Given the description of an element on the screen output the (x, y) to click on. 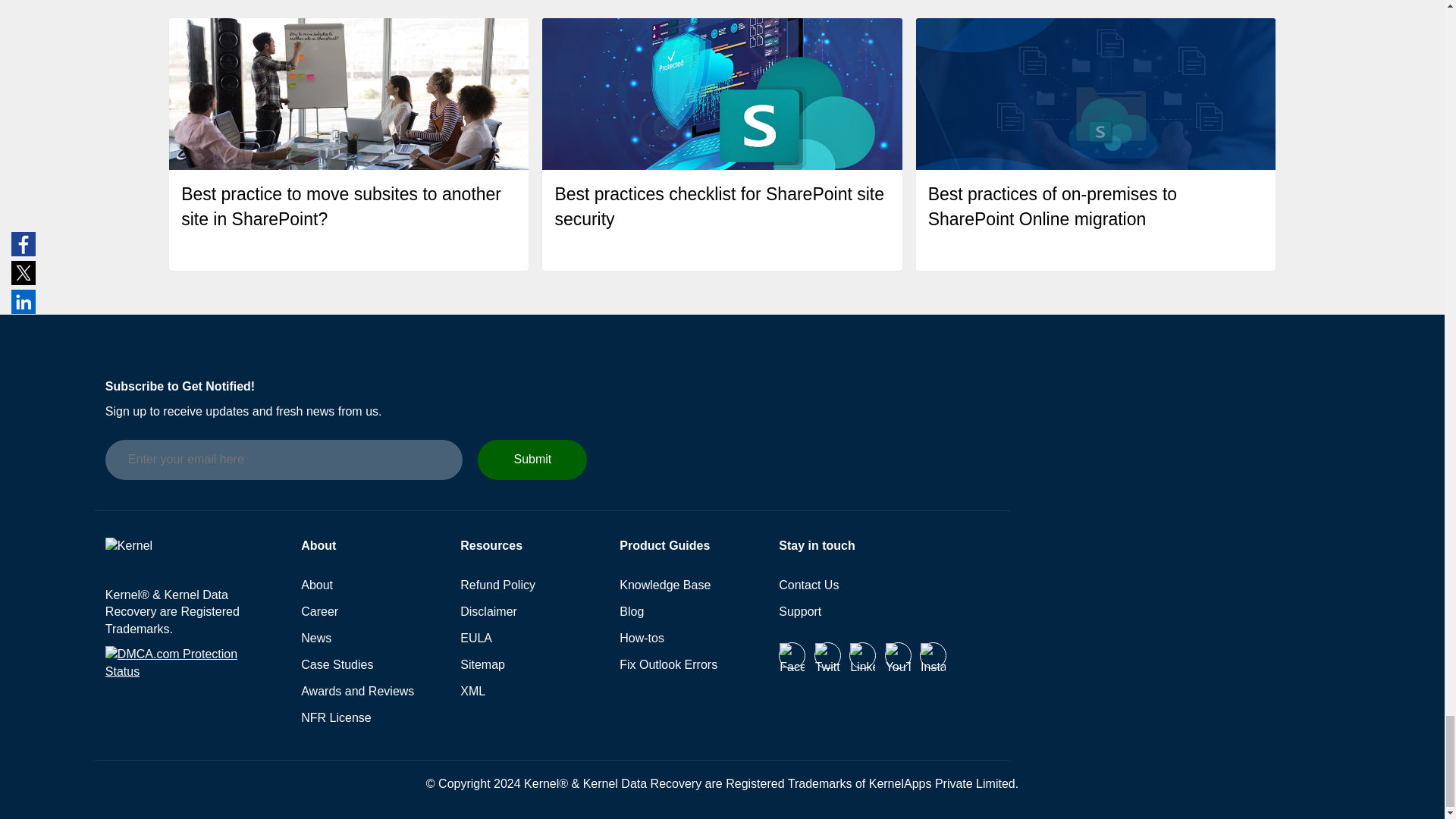
DMCA.com Protection Status (189, 673)
Submit (531, 459)
